Given the description of an element on the screen output the (x, y) to click on. 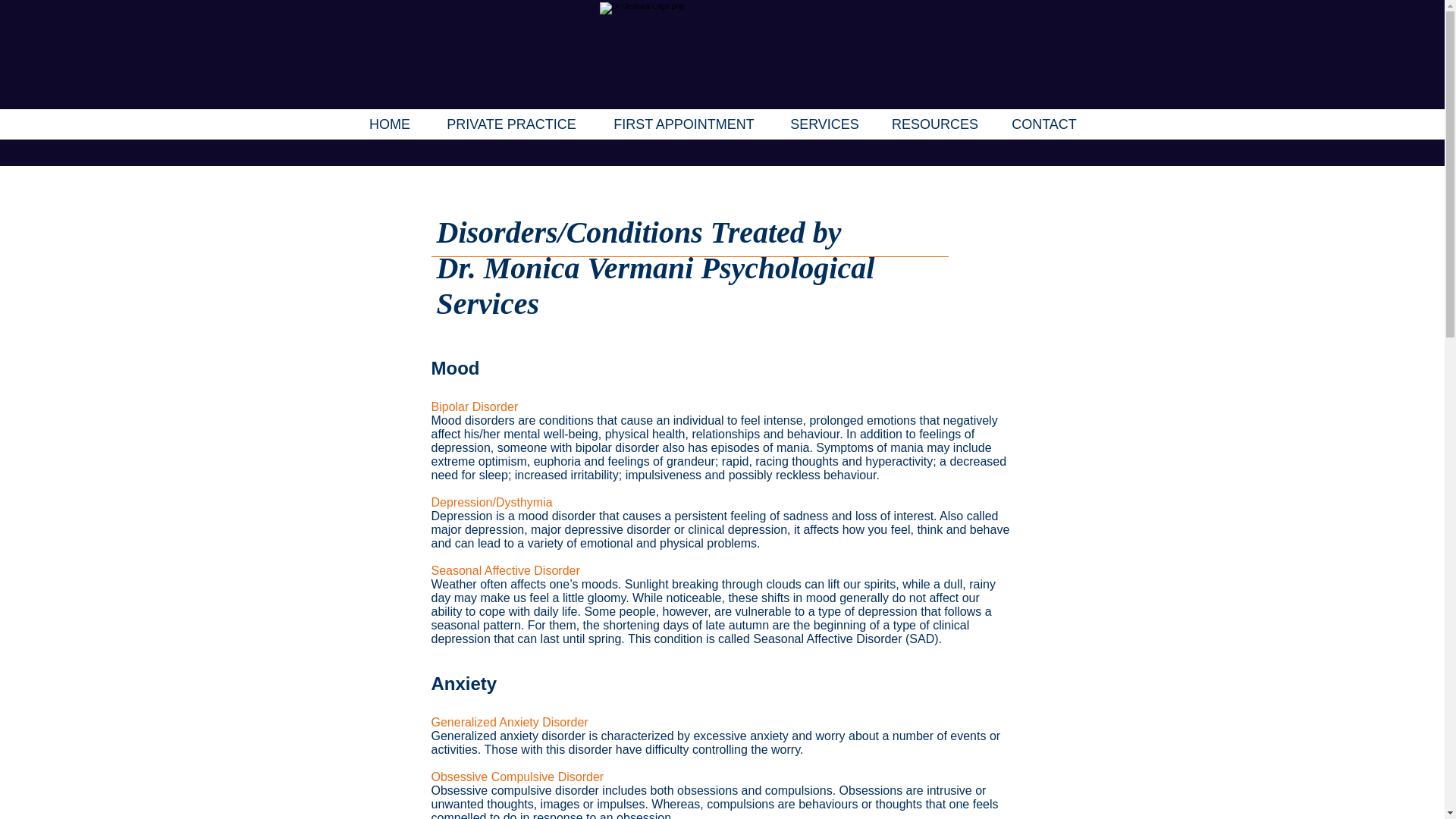
RESOURCES (934, 124)
CONTACT (1044, 124)
FIRST APPOINTMENT (684, 124)
SERVICES (824, 124)
PRIVATE PRACTICE (511, 124)
HOME (389, 124)
